Given the description of an element on the screen output the (x, y) to click on. 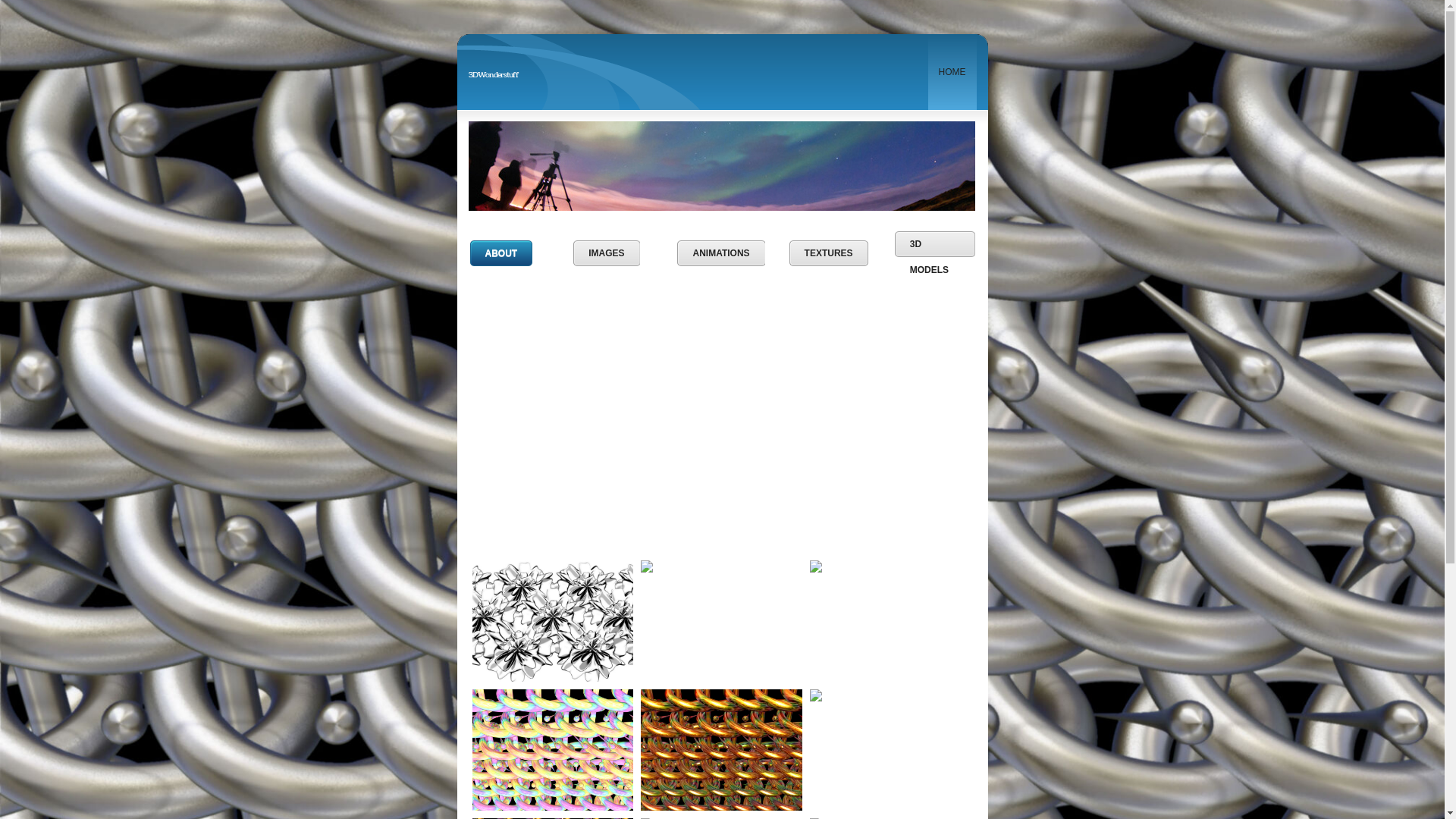
ANIMATIONS Element type: text (720, 253)
IMAGES Element type: text (606, 253)
HOME Element type: text (952, 71)
3DWonderstuff Element type: text (493, 68)
TEXTURES Element type: text (828, 253)
3D MODELS Element type: text (934, 244)
ABOUT Element type: text (501, 253)
